Given the description of an element on the screen output the (x, y) to click on. 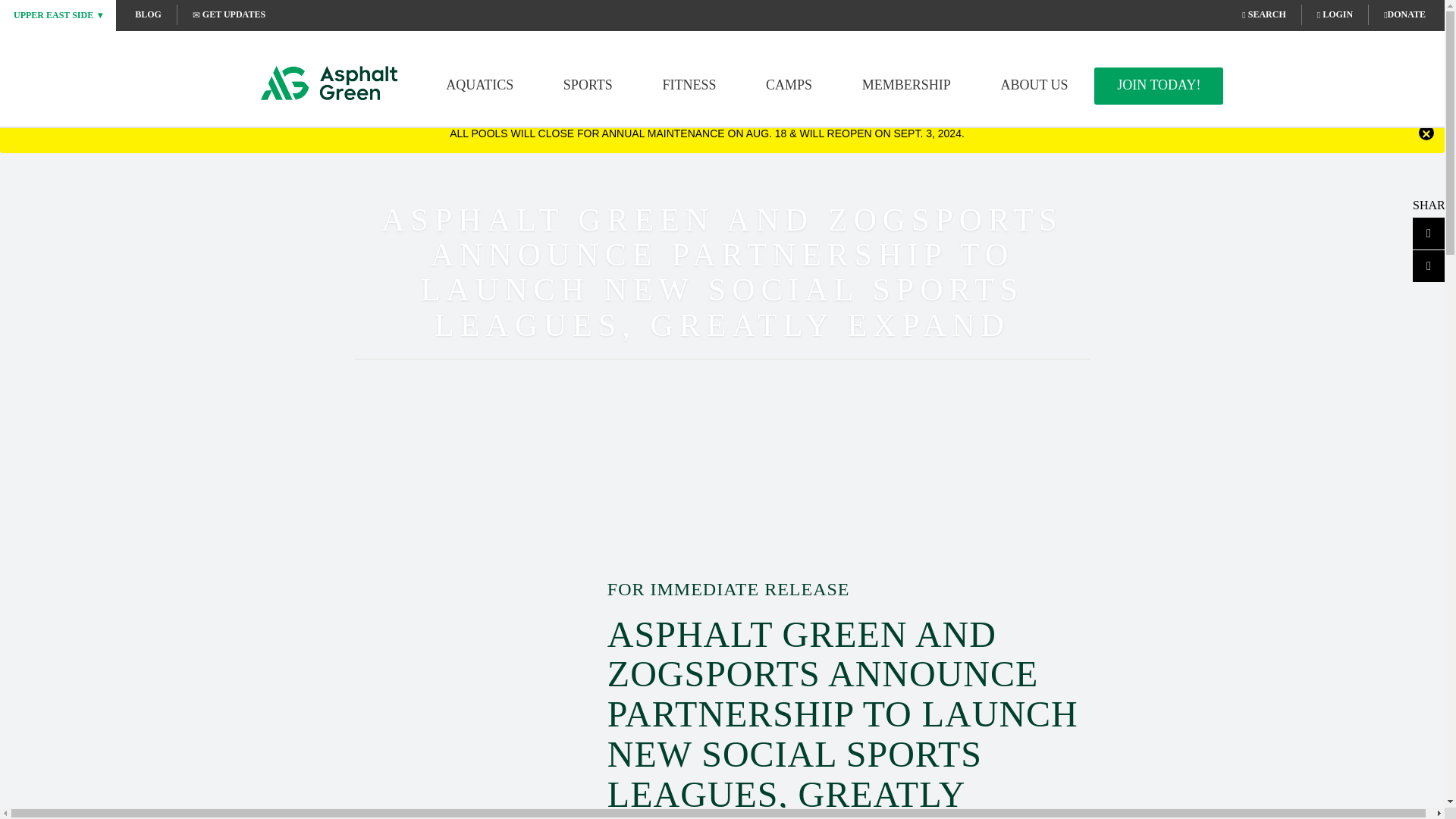
SPORTS (587, 84)
LOGIN (1334, 14)
GET UPDATES (228, 14)
FITNESS (689, 84)
DONATE (1404, 14)
BLOG (148, 14)
AQUATICS (479, 84)
